Given the description of an element on the screen output the (x, y) to click on. 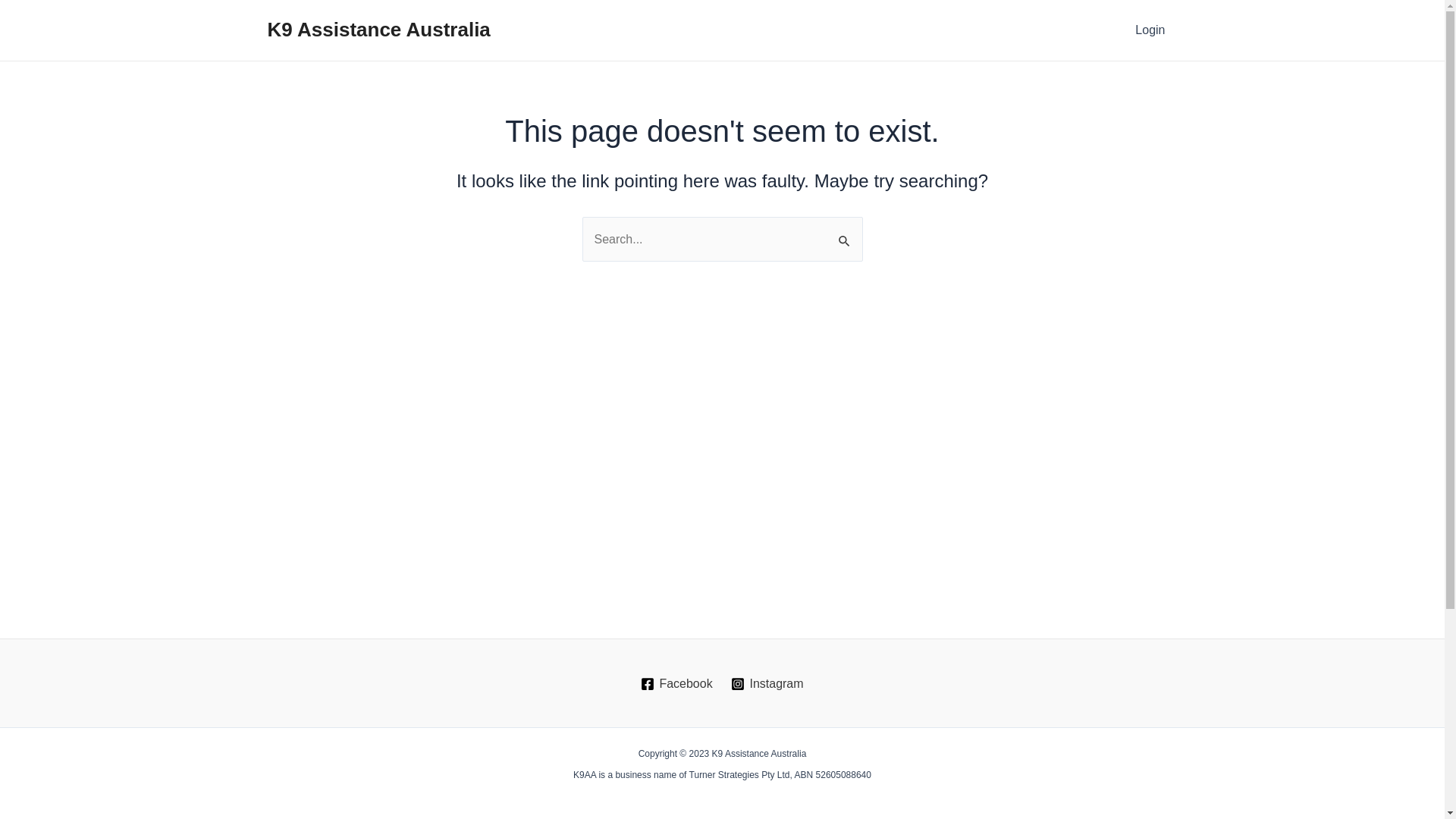
Instagram Element type: text (767, 683)
K9 Assistance Australia Element type: text (377, 29)
Login Element type: text (1149, 30)
Facebook Element type: text (676, 683)
Search Element type: text (845, 232)
